Given the description of an element on the screen output the (x, y) to click on. 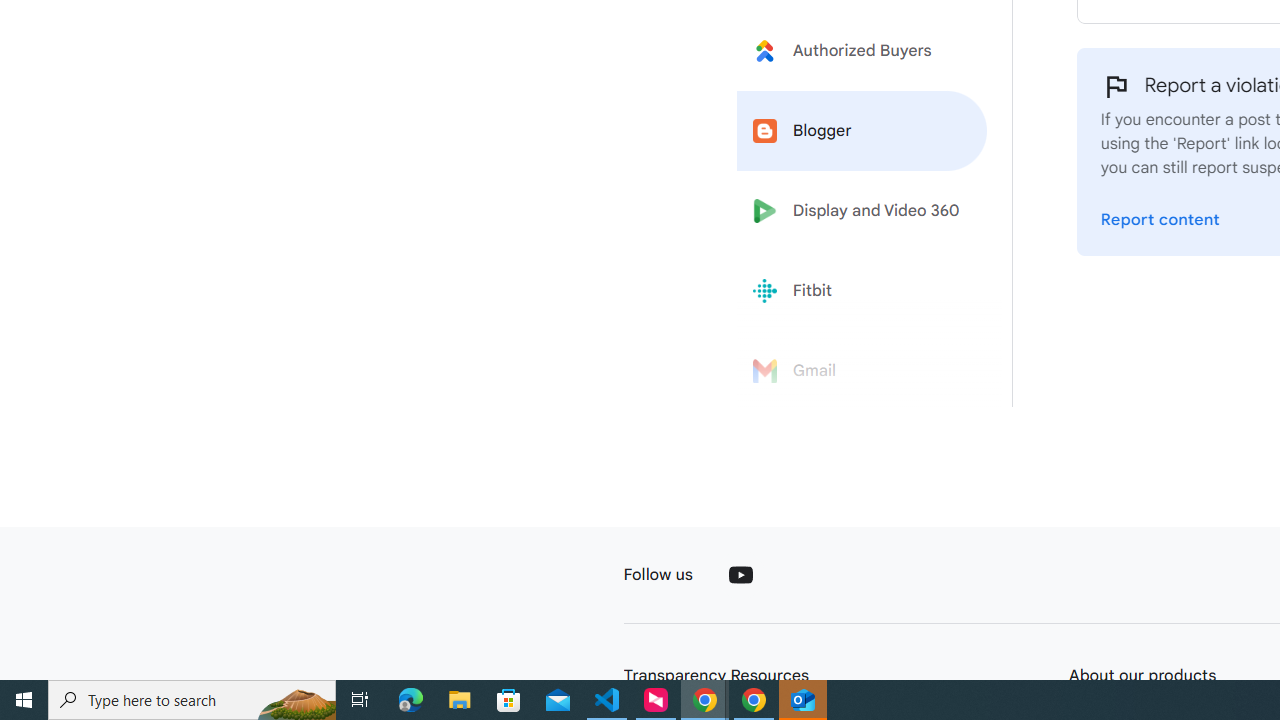
Blogger (862, 130)
Display and Video 360 (862, 211)
Display and Video 360 (862, 211)
Gmail (862, 371)
Blogger (862, 130)
Learn more about Authorized Buyers (862, 50)
YouTube (740, 574)
Gmail (862, 371)
Report a violation on the Blogger Report page (1159, 219)
Learn more about Authorized Buyers (862, 50)
Fitbit (862, 291)
Fitbit (862, 291)
